Given the description of an element on the screen output the (x, y) to click on. 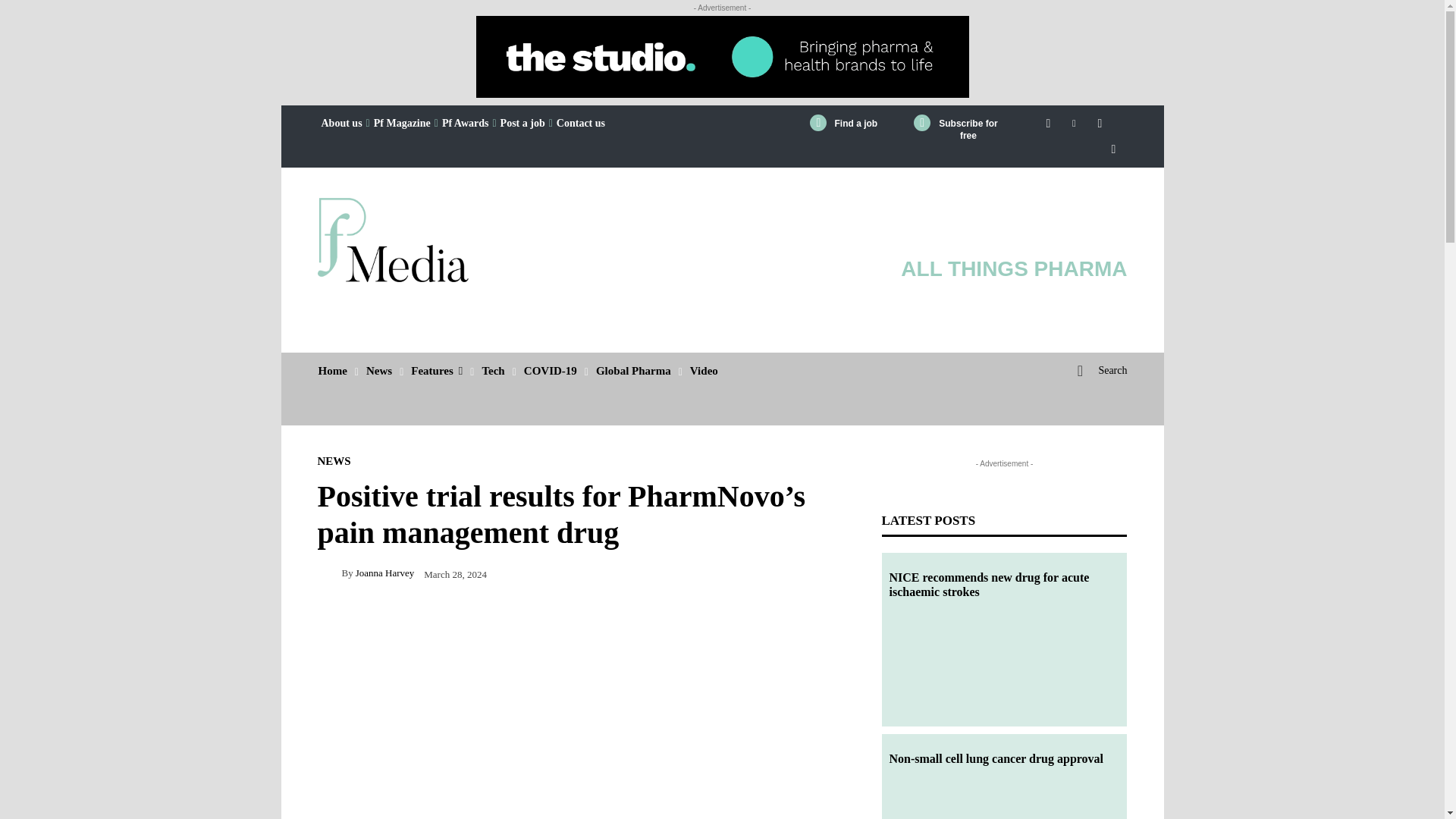
About us (341, 123)
Contact us (580, 123)
Twitter (1112, 146)
Pf Magazine (401, 123)
Pf Awards (465, 123)
Mail (1099, 120)
Post a job (522, 123)
Facebook (1048, 120)
Linkedin (1073, 120)
Home (333, 370)
